Given the description of an element on the screen output the (x, y) to click on. 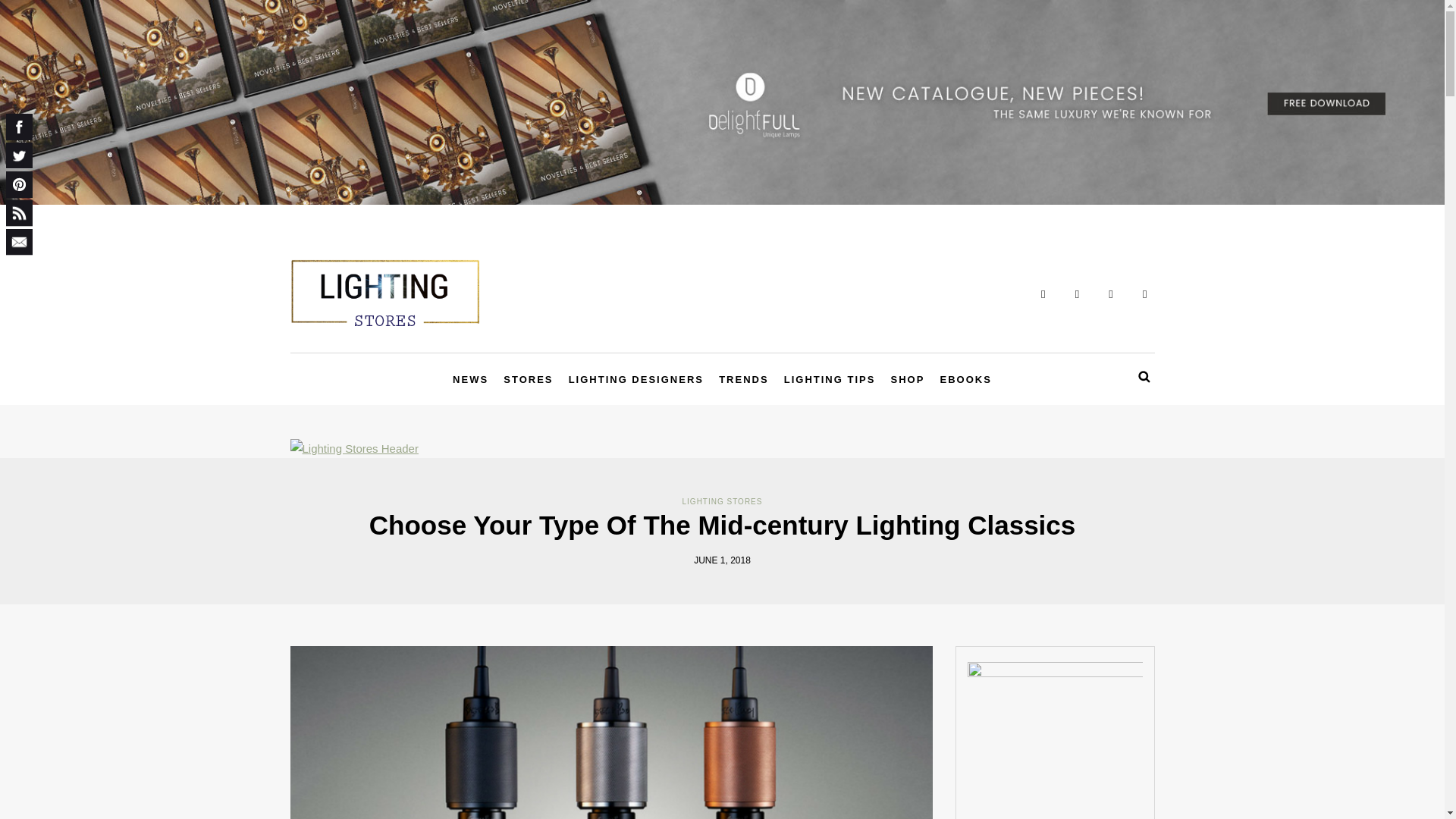
PRIVACY POLICY (361, 216)
ABOUT (297, 216)
NEWS (469, 380)
SHOP (907, 380)
STORES (527, 380)
EBOOKS (965, 380)
LIGHTING DESIGNERS (636, 380)
TRENDS (743, 380)
LIGHTING STORES (722, 501)
LIGHTING TIPS (829, 380)
